Given the description of an element on the screen output the (x, y) to click on. 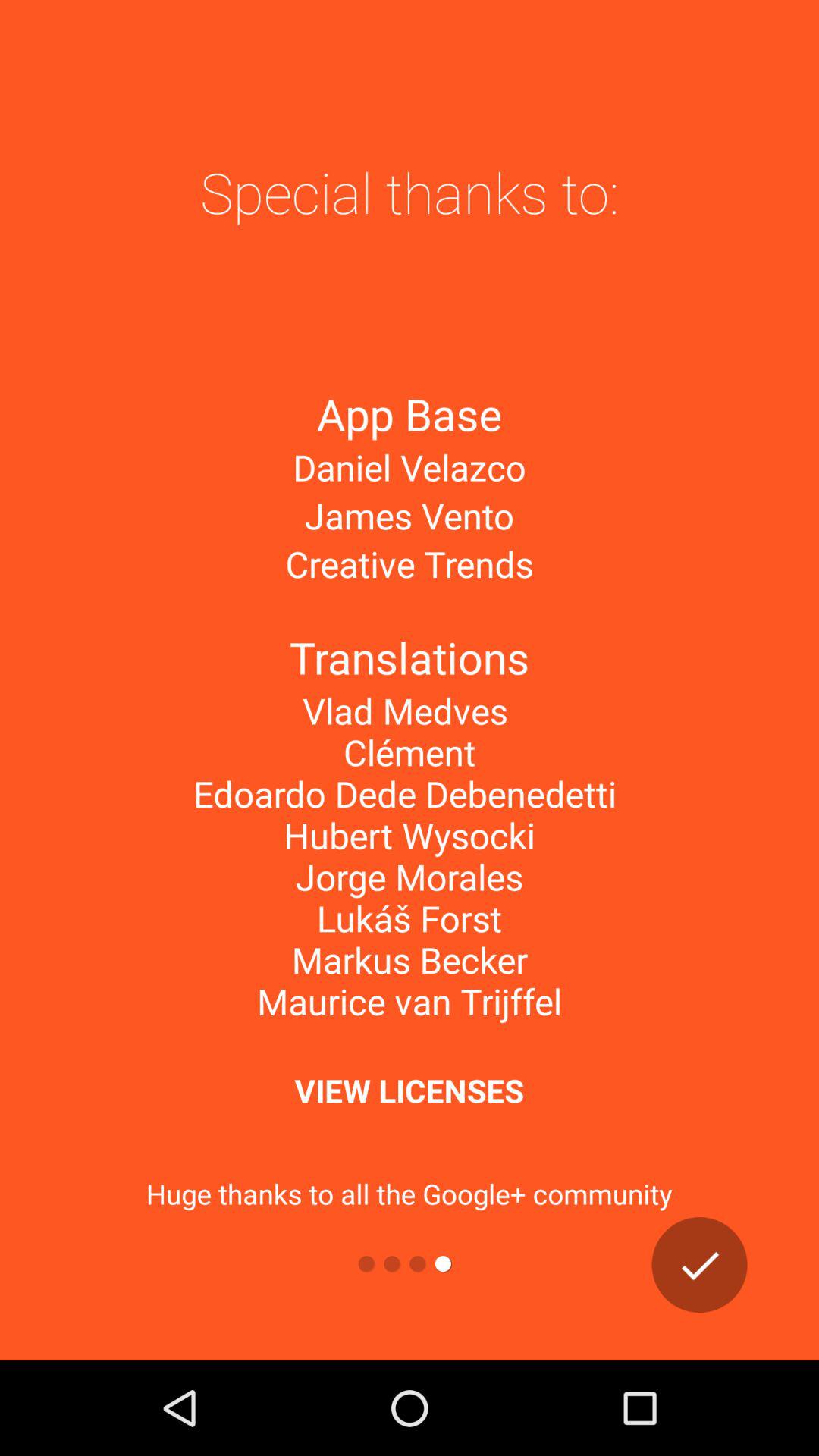
go next (699, 1264)
